Given the description of an element on the screen output the (x, y) to click on. 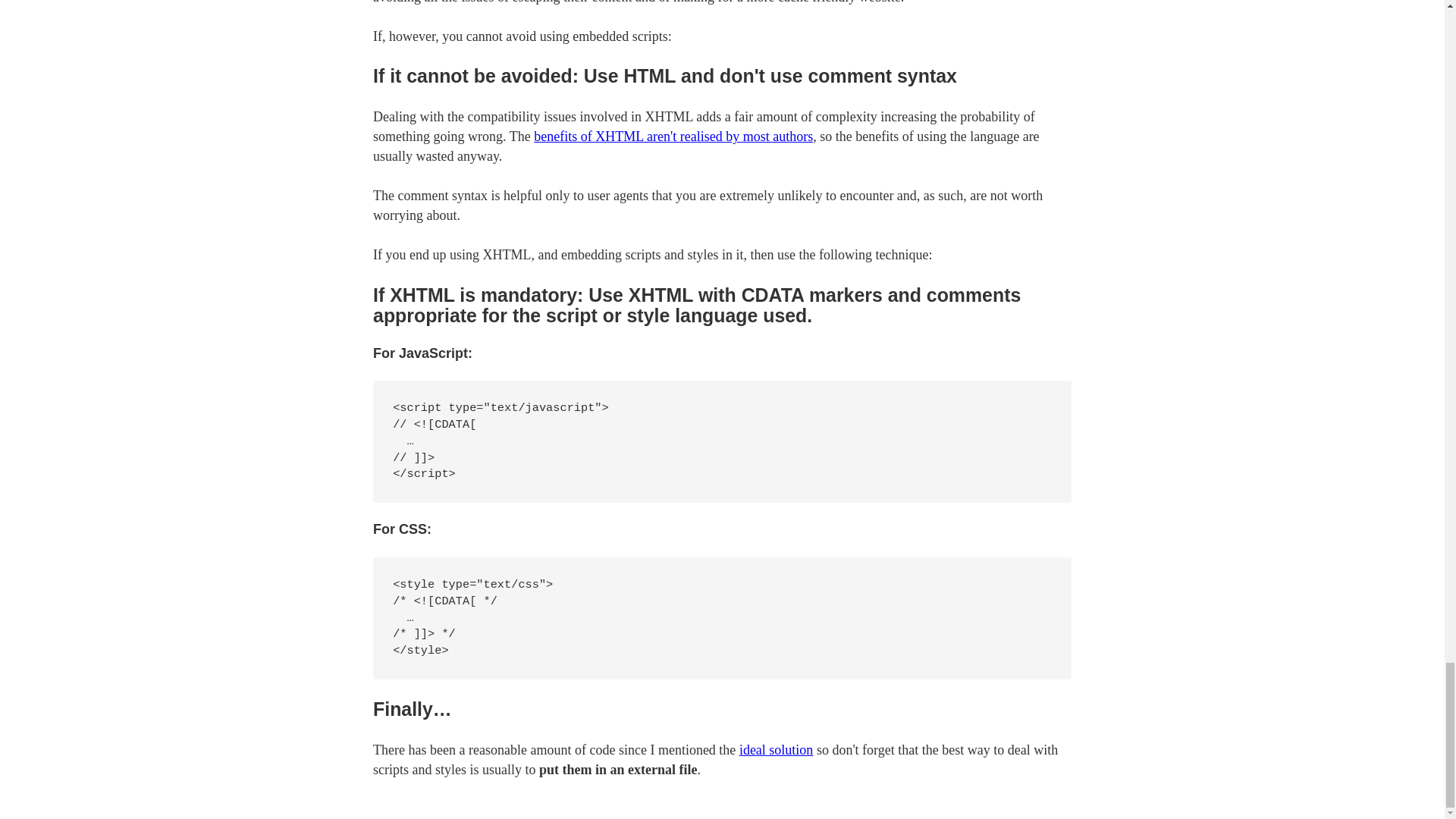
benefits of XHTML aren't realised by most authors (673, 136)
ideal solution (776, 749)
